Given the description of an element on the screen output the (x, y) to click on. 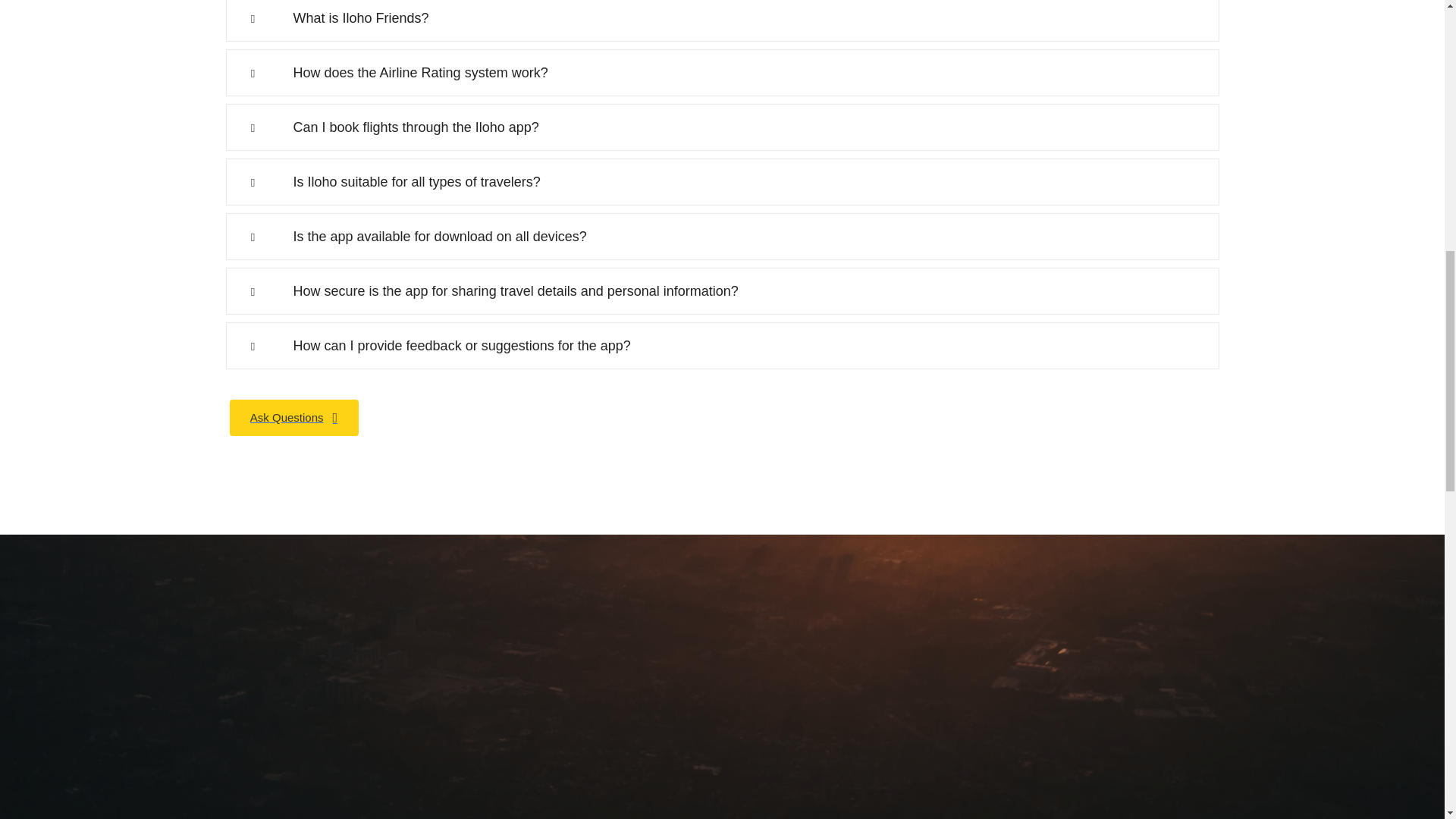
How can I provide feedback or suggestions for the app? (722, 345)
How does the Airline Rating system work? (722, 72)
Ask Questions (293, 417)
Can I book flights through the Iloho app? (722, 127)
What is Iloho Friends? (722, 20)
Is the app available for download on all devices? (722, 236)
Is Iloho suitable for all types of travelers? (722, 181)
